Given the description of an element on the screen output the (x, y) to click on. 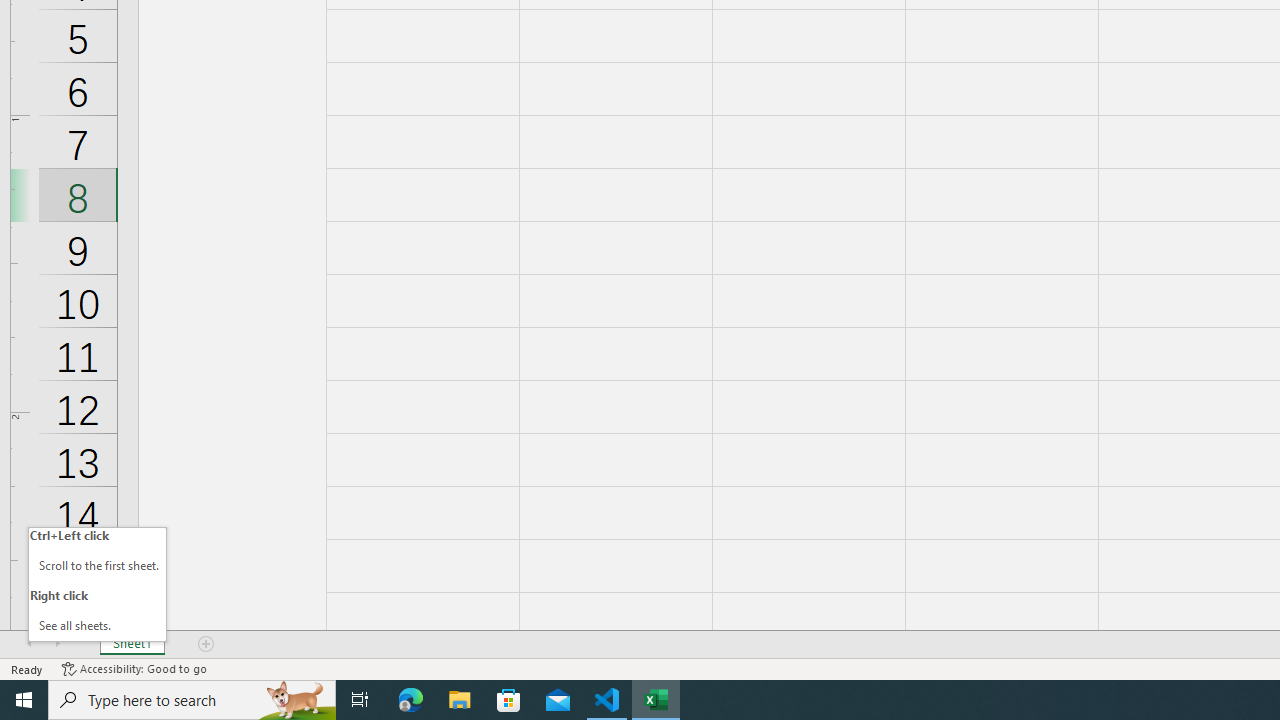
Sheet Tab (132, 644)
Accessibility Checker Accessibility: Good to go (134, 668)
Sheet1 (132, 644)
Add Sheet (207, 644)
Scroll Left (29, 644)
Scroll Right (57, 644)
